Given the description of an element on the screen output the (x, y) to click on. 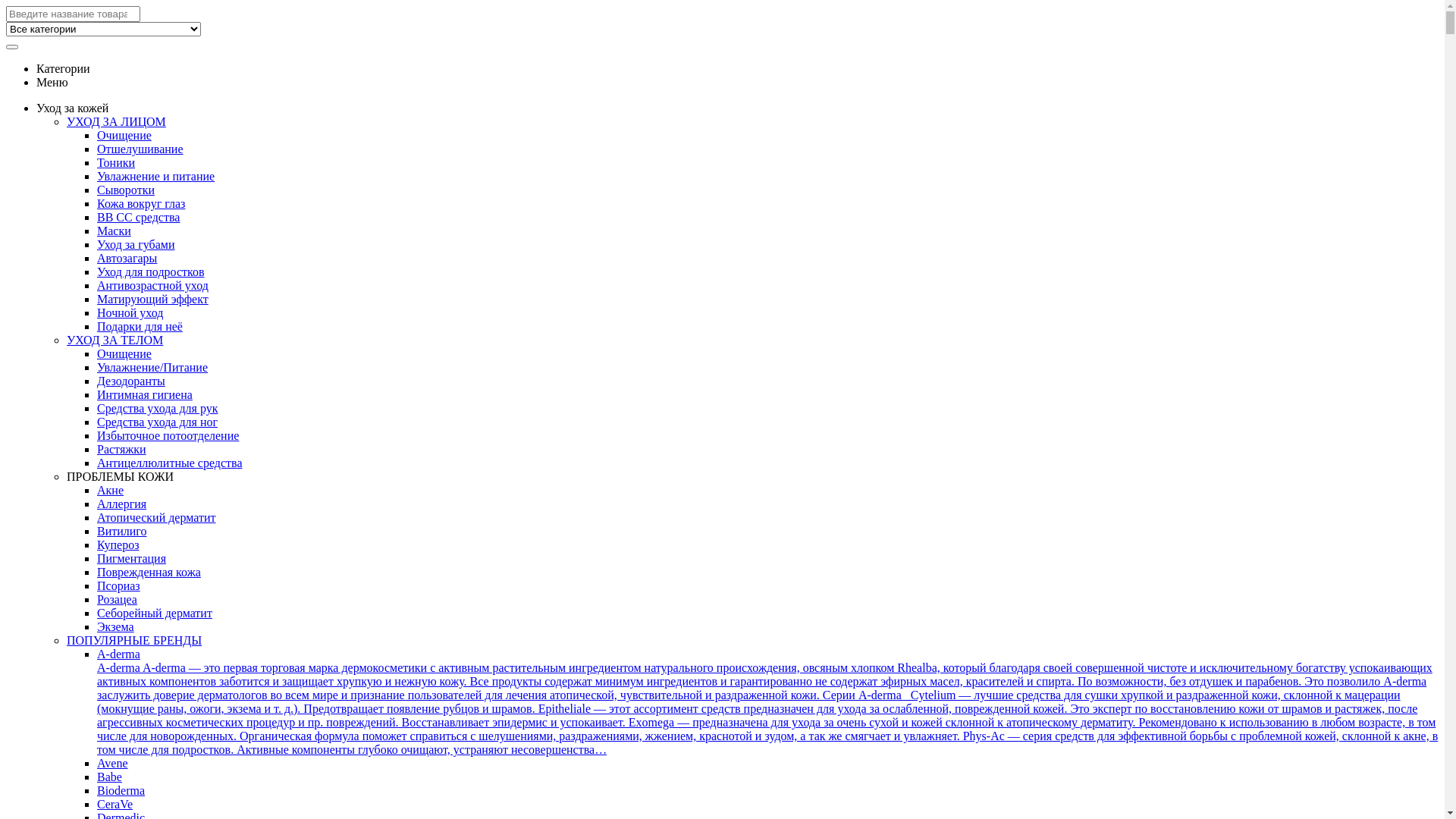
Avene Element type: text (112, 762)
CeraVe Element type: text (114, 803)
Bioderma Element type: text (120, 790)
Babe Element type: text (109, 776)
